Given the description of an element on the screen output the (x, y) to click on. 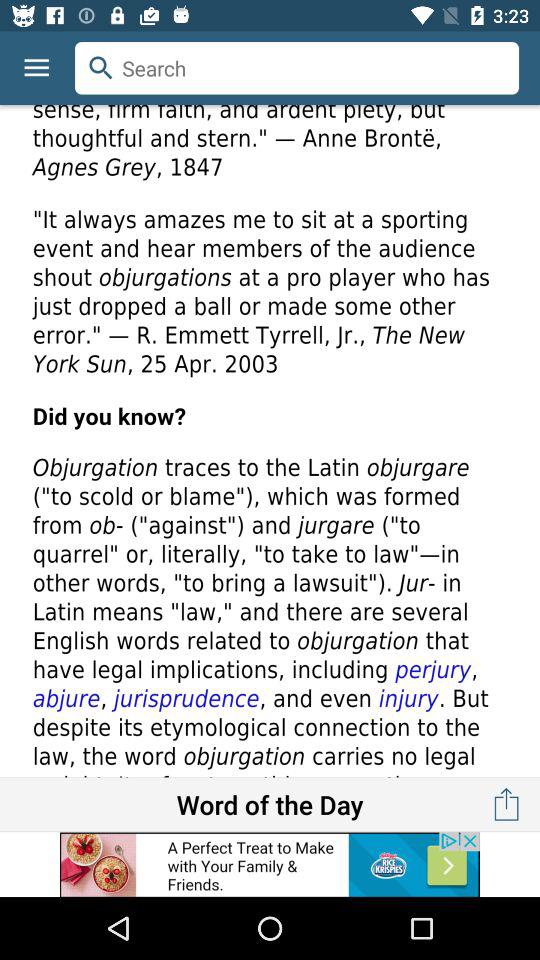
search option (297, 68)
